Given the description of an element on the screen output the (x, y) to click on. 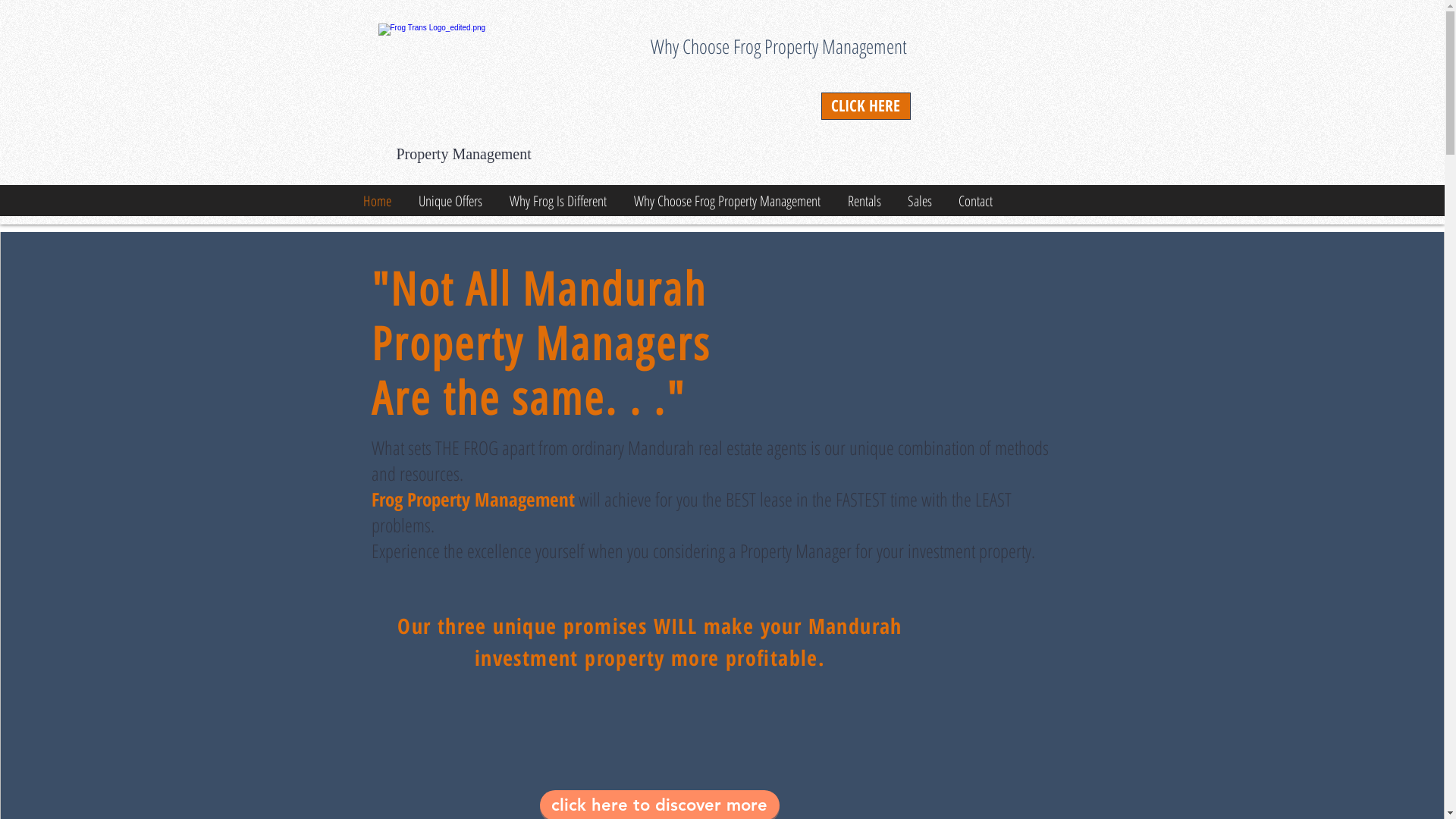
Rentals Element type: text (861, 200)
Why Frog Is Different Element type: text (554, 200)
Sales Element type: text (916, 200)
CLICK HERE Element type: text (865, 105)
Why Choose Frog Property Management Element type: text (724, 200)
Contact Element type: text (973, 200)
Unique Offers Element type: text (446, 200)
Home Element type: text (374, 200)
